Given the description of an element on the screen output the (x, y) to click on. 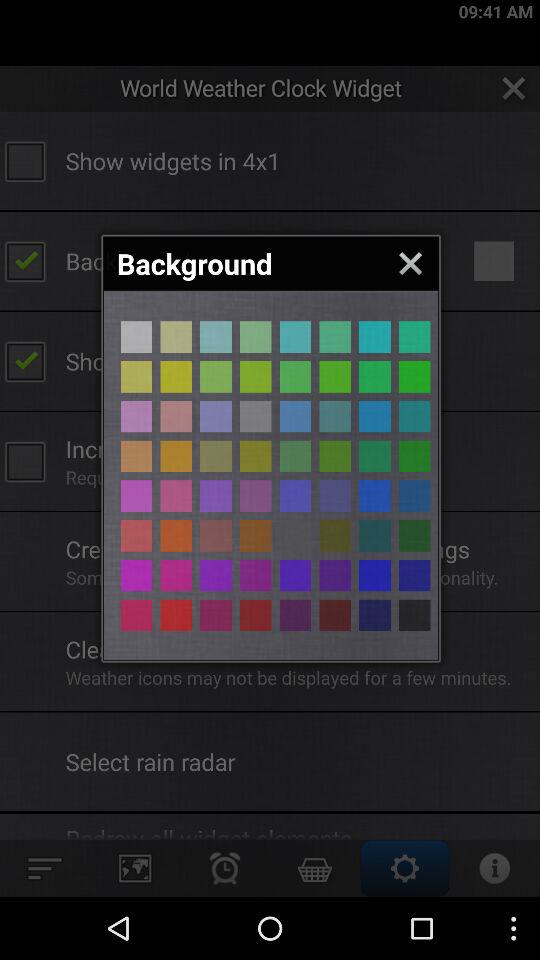
select green background (414, 456)
